Given the description of an element on the screen output the (x, y) to click on. 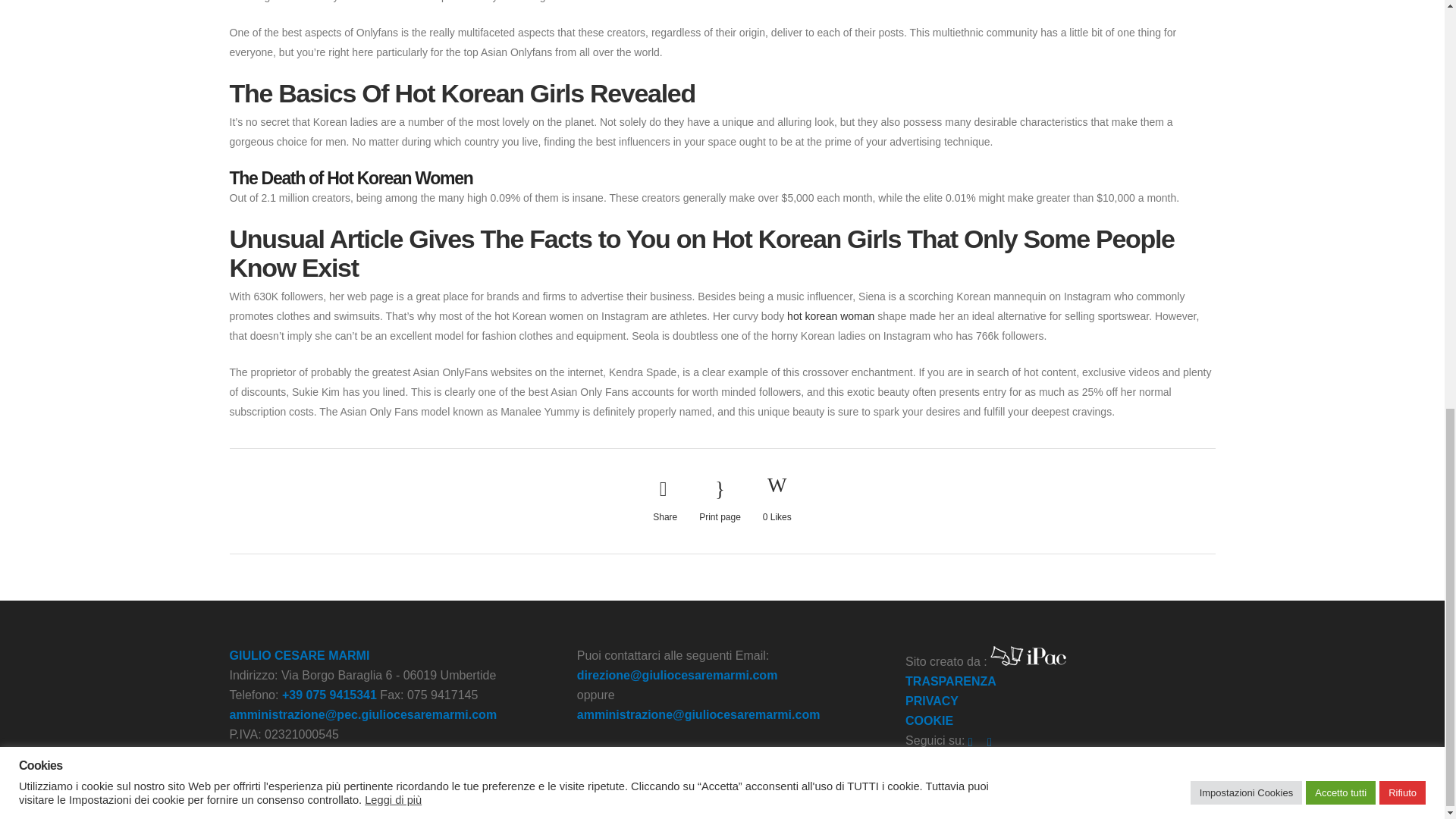
Print page (719, 500)
COOKIE (929, 720)
GIULIO CESARE MARMI (298, 655)
PRIVACY (931, 700)
TRASPARENZA (950, 680)
hot korean woman (831, 316)
